Given the description of an element on the screen output the (x, y) to click on. 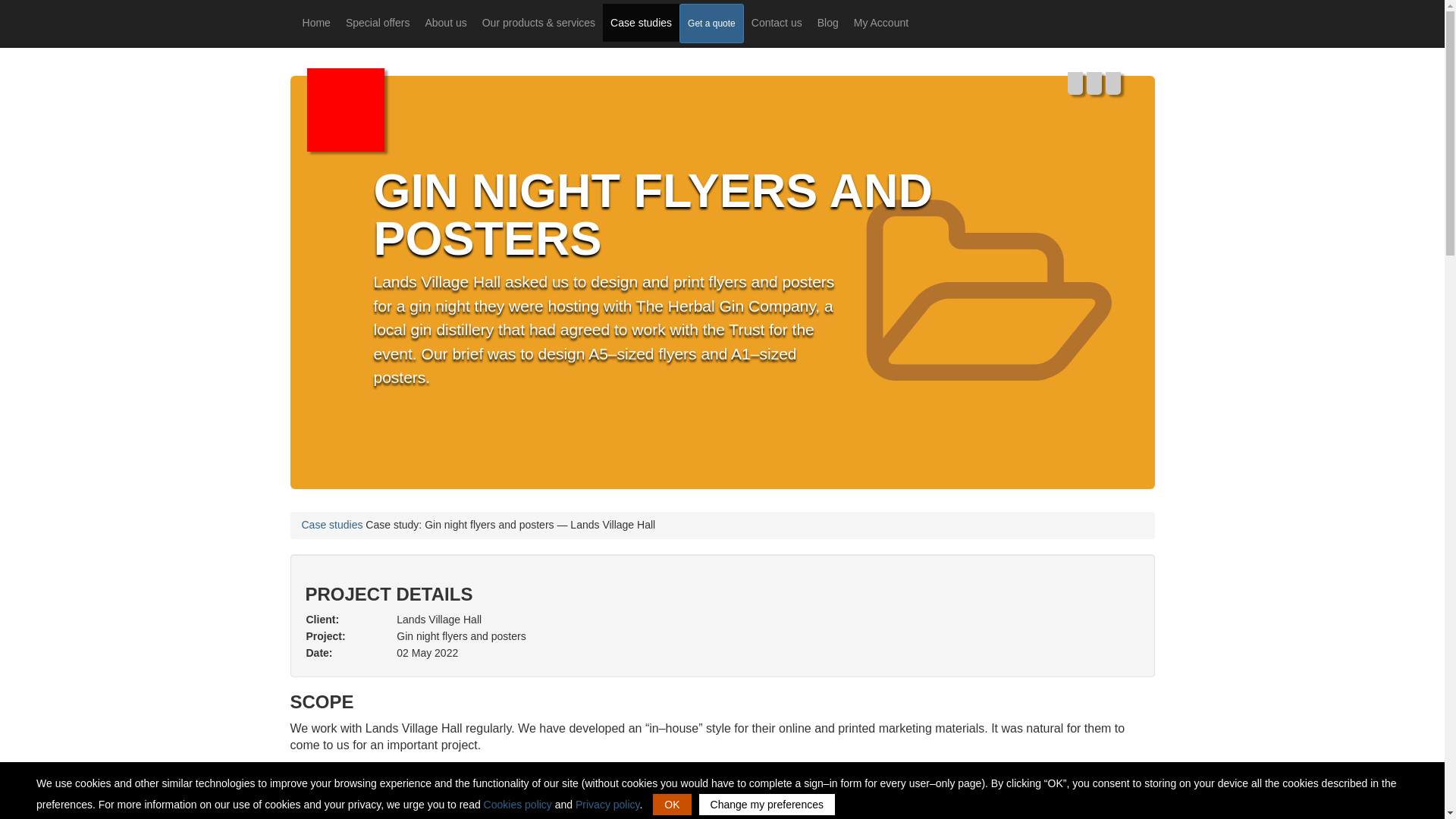
My Account (880, 23)
Contact us (776, 22)
Get a quote (711, 23)
Privacy policy (607, 804)
Back to case studies (331, 524)
Home (316, 22)
About us (445, 22)
Redcentaur Design website (344, 112)
Special offers (377, 22)
Cookies policy (517, 804)
